Given the description of an element on the screen output the (x, y) to click on. 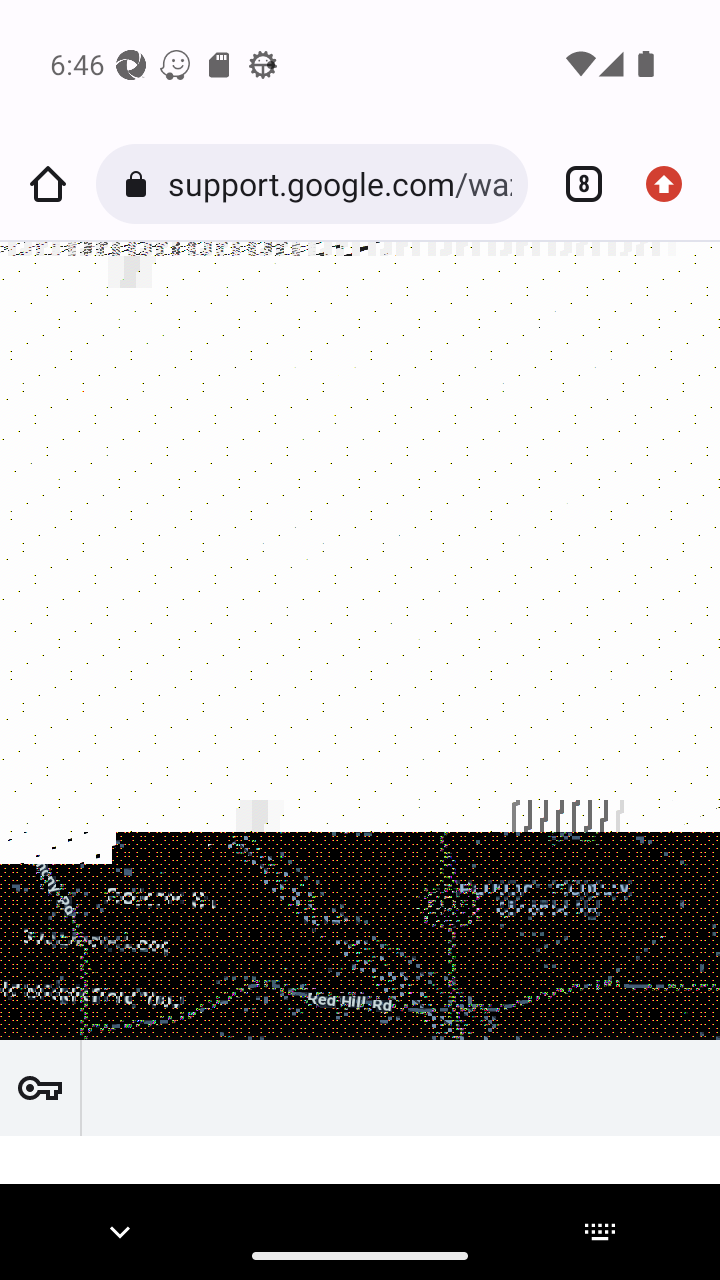
Home (47, 184)
Connection is secure (139, 184)
Switch or close tabs (575, 184)
Update available. More options (672, 184)
support.google.com/waze/answer/11942300 (339, 184)
Show passwords (39, 1087)
